Given the description of an element on the screen output the (x, y) to click on. 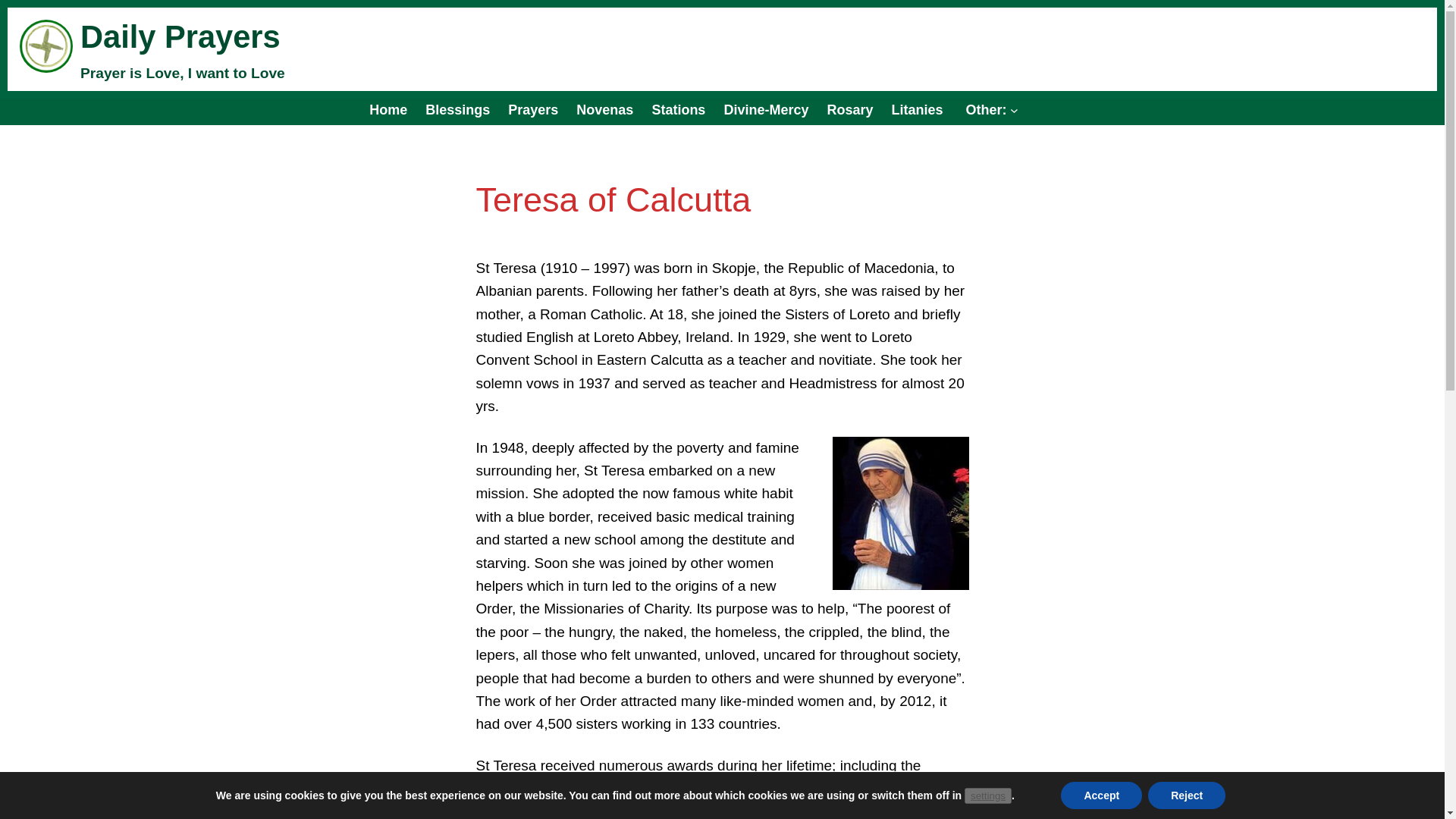
Novenas (604, 110)
Other: (988, 110)
Blessings (457, 110)
Rosary (849, 110)
Divine-Mercy (765, 110)
Stations (677, 110)
Prayers (532, 110)
Children (532, 110)
Litanies (916, 110)
Home (388, 110)
